Given the description of an element on the screen output the (x, y) to click on. 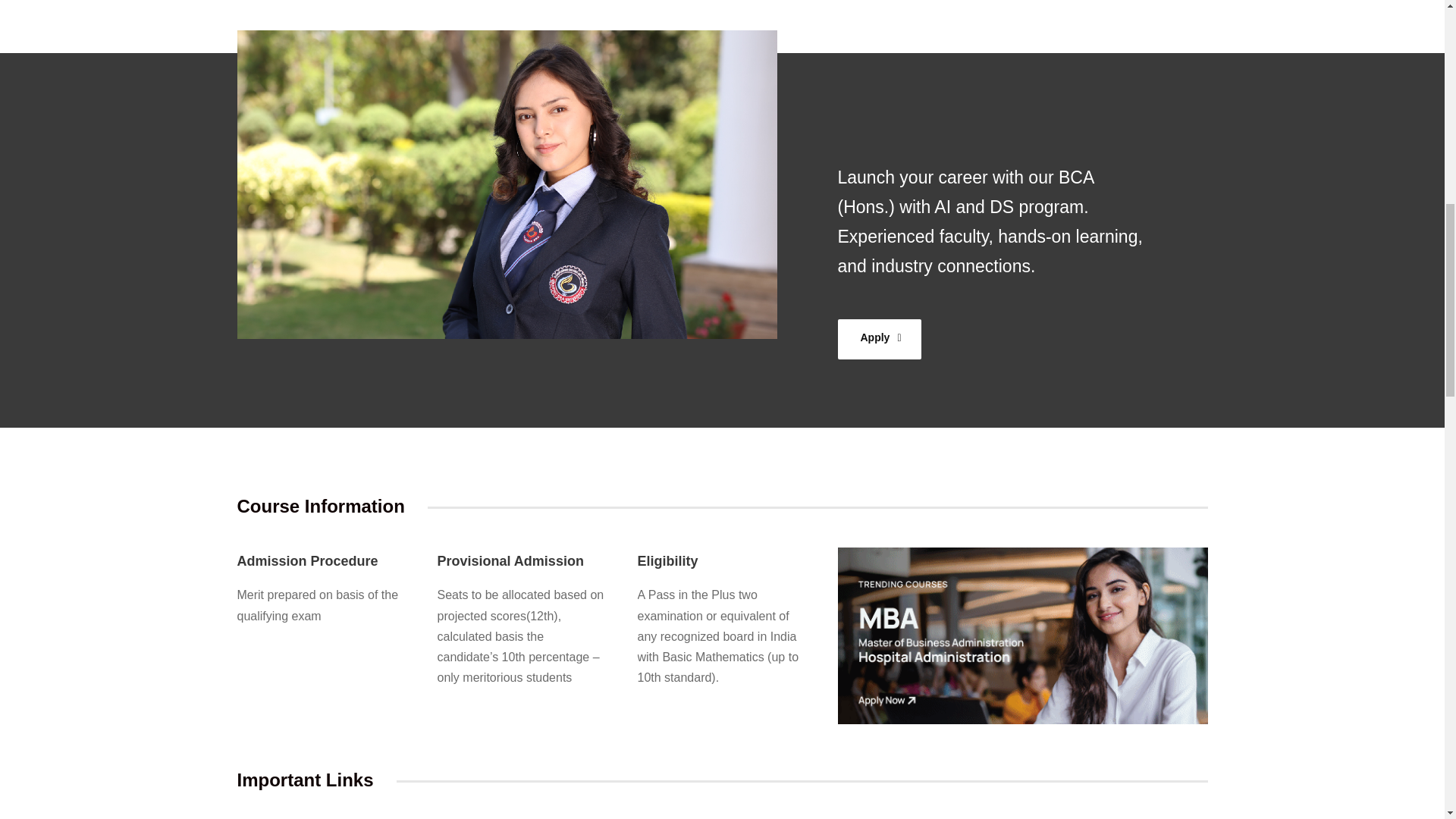
Apply (878, 338)
anigif (1022, 635)
